Given the description of an element on the screen output the (x, y) to click on. 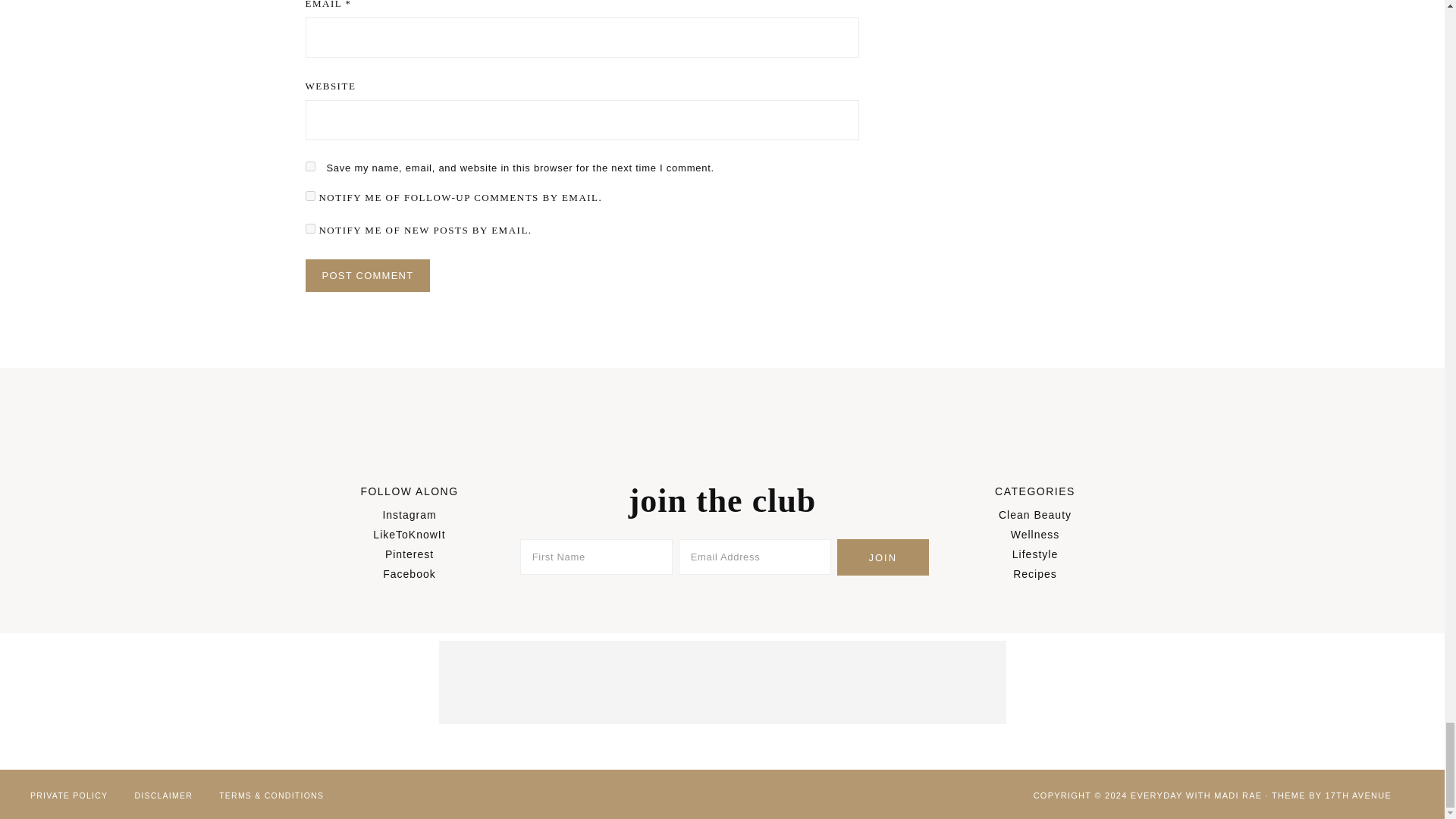
subscribe (309, 228)
yes (309, 166)
subscribe (309, 195)
Join (882, 556)
Post Comment (366, 275)
